Given the description of an element on the screen output the (x, y) to click on. 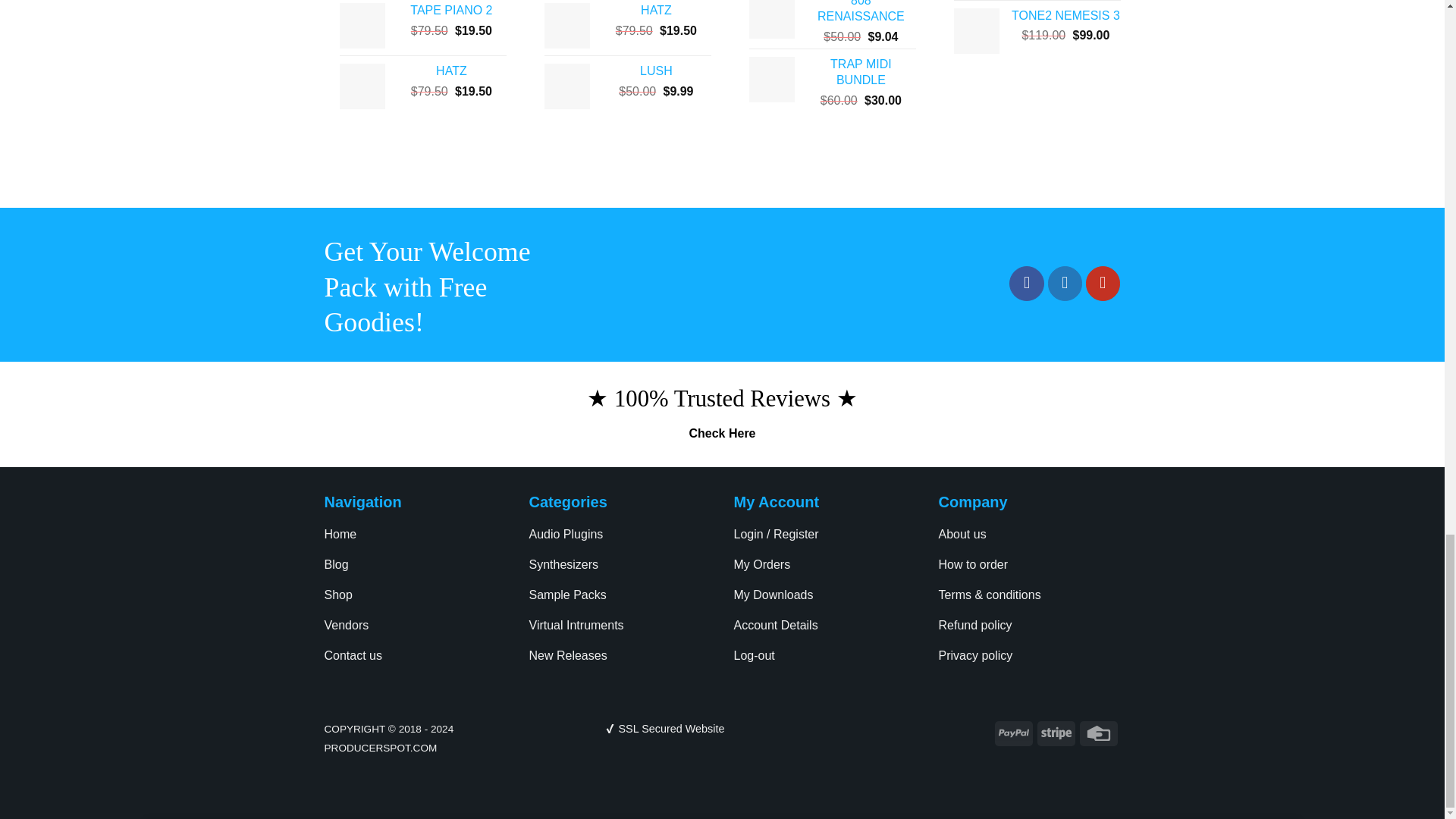
HATZ (450, 71)
TAPE PIANO 2 (450, 10)
LUSH (655, 71)
HATZ (655, 10)
